Given the description of an element on the screen output the (x, y) to click on. 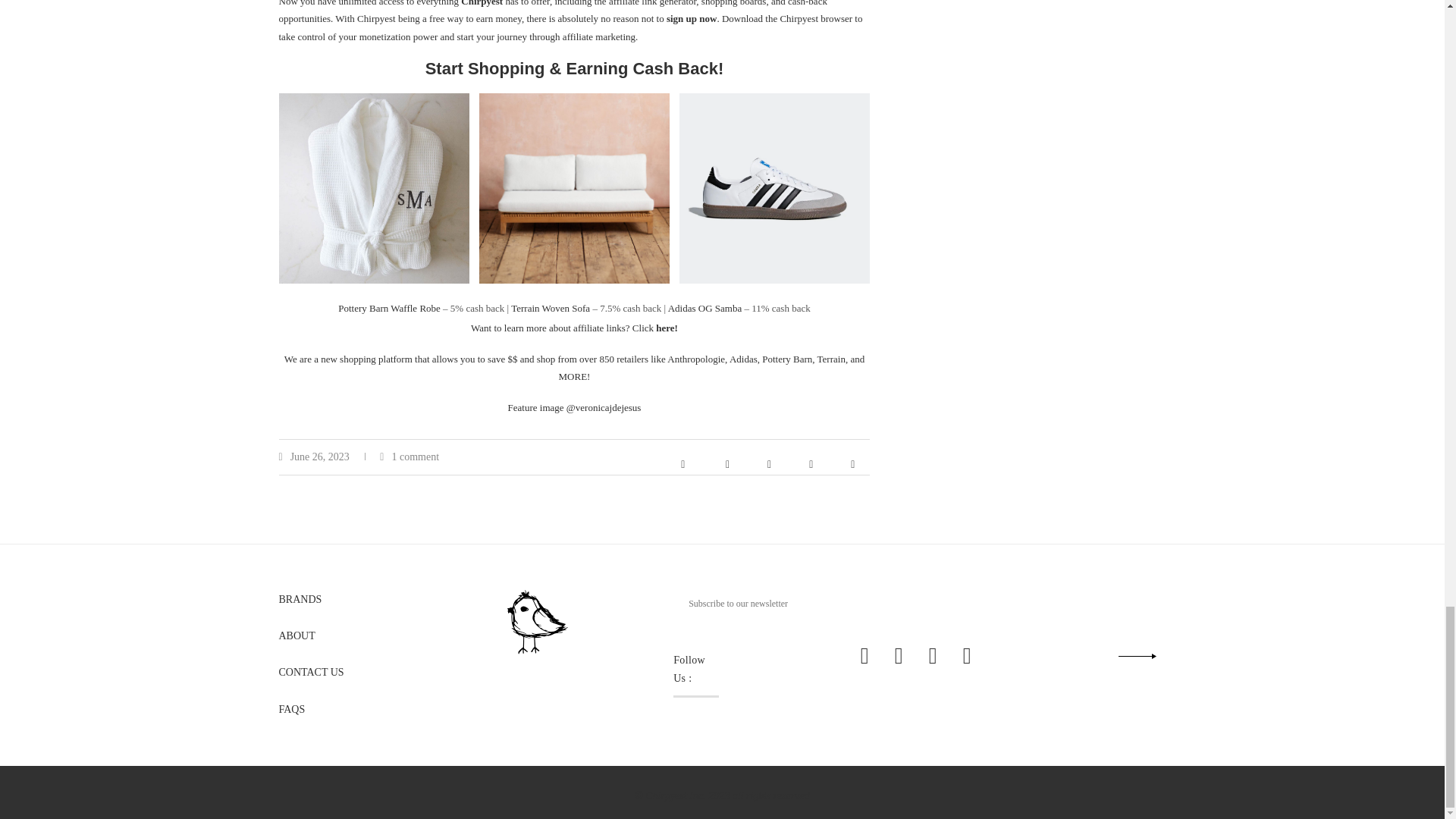
Chirpyest (481, 3)
Pottery Barn Waffle Robe (389, 307)
sign up now (691, 18)
Like (682, 464)
